Given the description of an element on the screen output the (x, y) to click on. 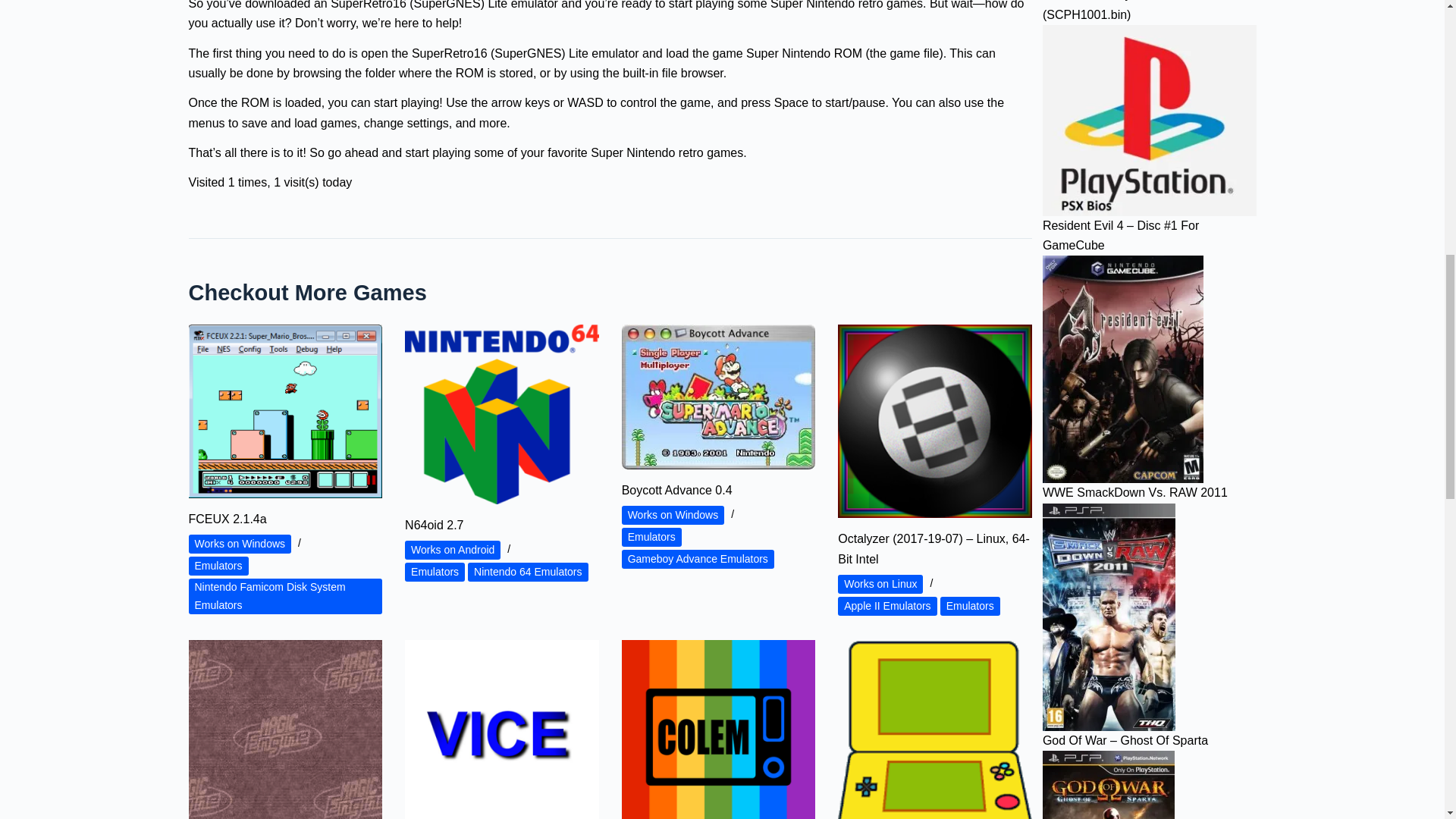
WWE SmackDown Vs. RAW 2011 (1108, 617)
God Of War - Ghost Of Sparta (1108, 785)
